Given the description of an element on the screen output the (x, y) to click on. 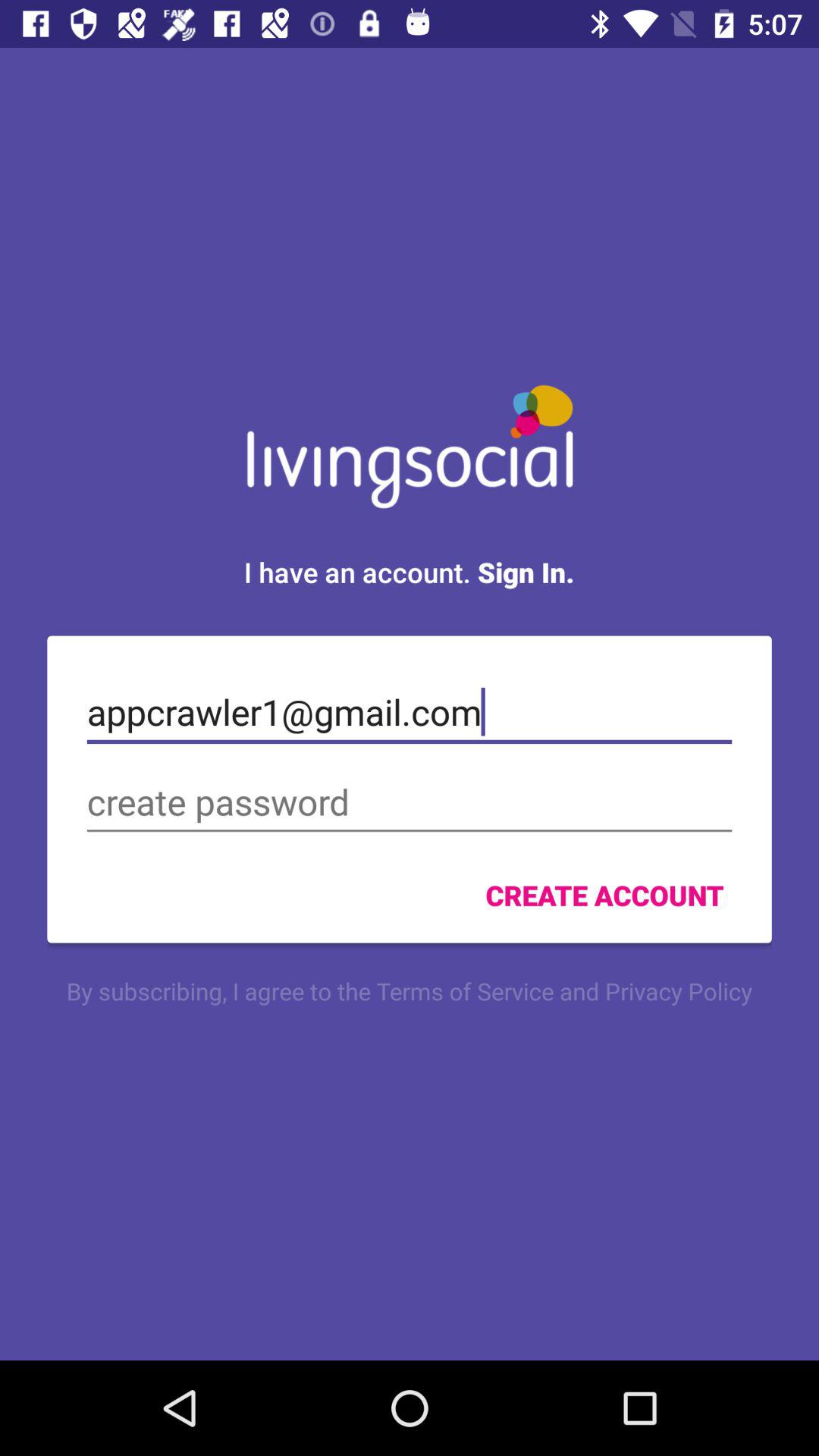
open item above the create account (409, 802)
